Given the description of an element on the screen output the (x, y) to click on. 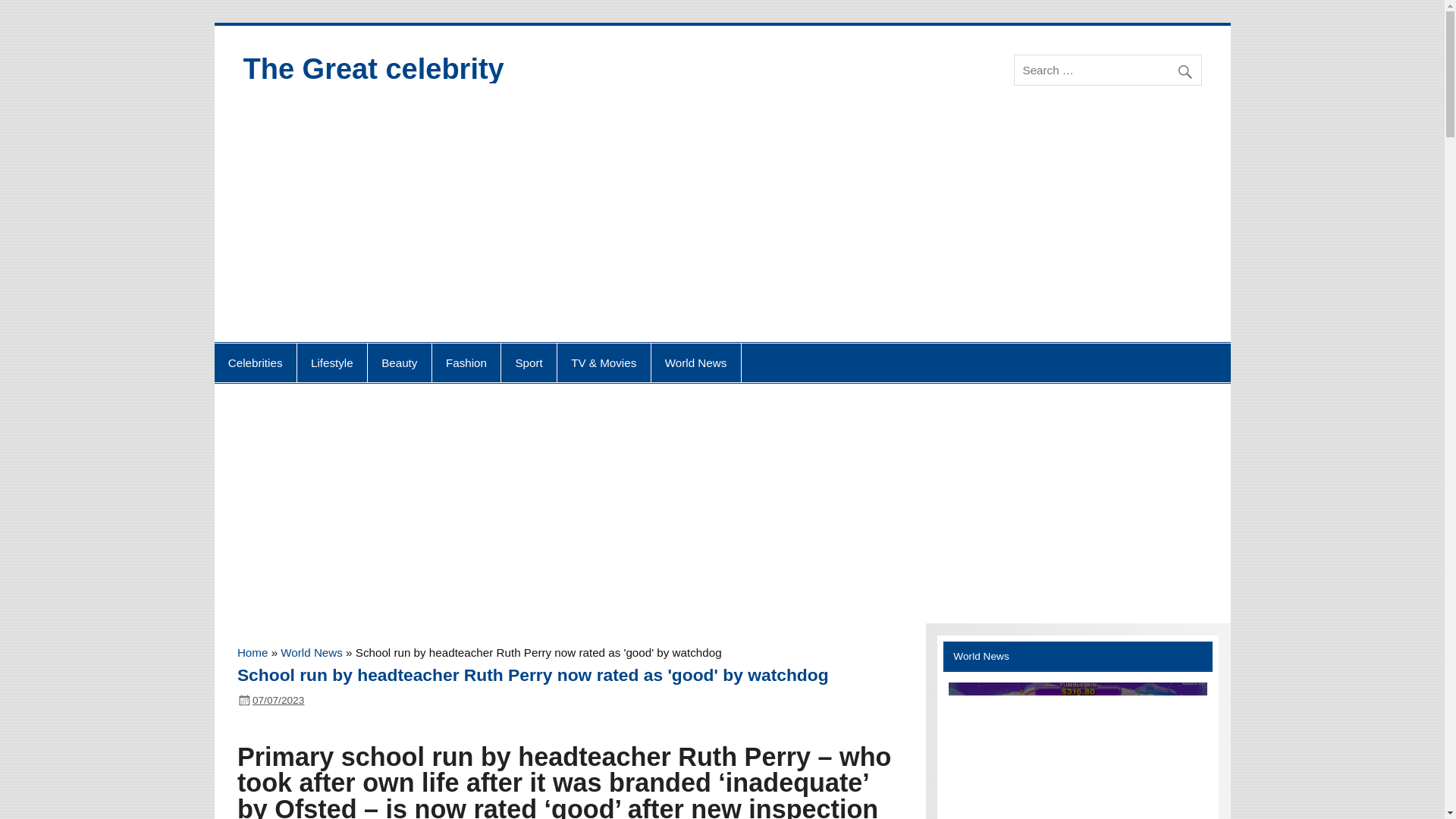
22:01 (277, 699)
Home (252, 652)
Fashion (466, 363)
World News (695, 363)
World News (311, 652)
Beauty (399, 363)
The Guide to Winning Big in Sweet Bonanza Online Slot (1078, 750)
Lifestyle (331, 363)
Sport (528, 363)
The Great celebrity (373, 69)
Celebrities (254, 363)
